Given the description of an element on the screen output the (x, y) to click on. 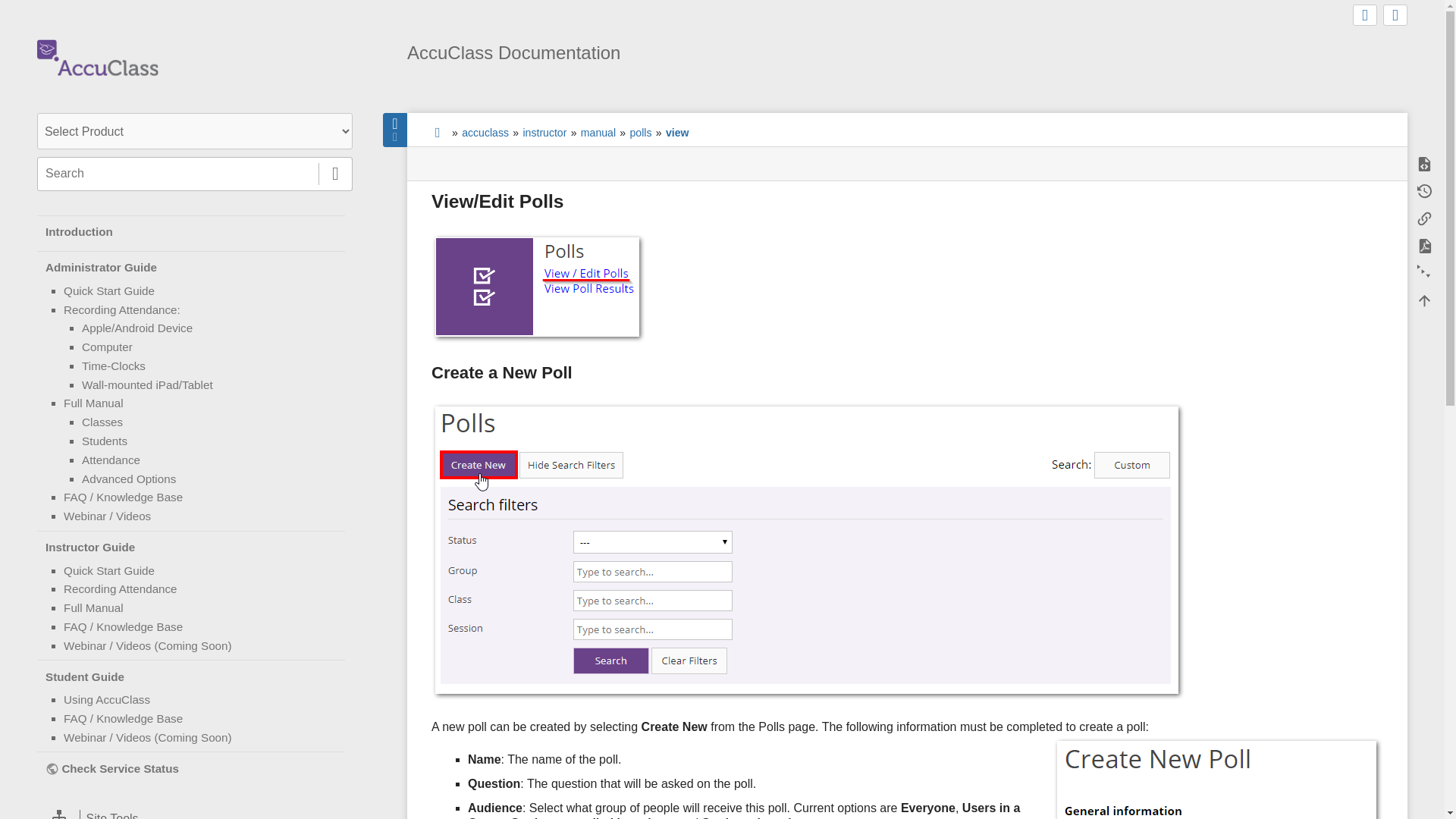
Full Manual (93, 402)
accuclass:manual (93, 402)
Site Tools (194, 811)
accuclass:recording-attendance:devices:mobiledevice (136, 327)
Full Manual (93, 607)
Check Service Status (195, 768)
Search (335, 174)
Students (104, 440)
accuclass:recording-attendance:devices:mountedipad (146, 384)
accuclass:recording-attendance:devices:computer (106, 346)
